Given the description of an element on the screen output the (x, y) to click on. 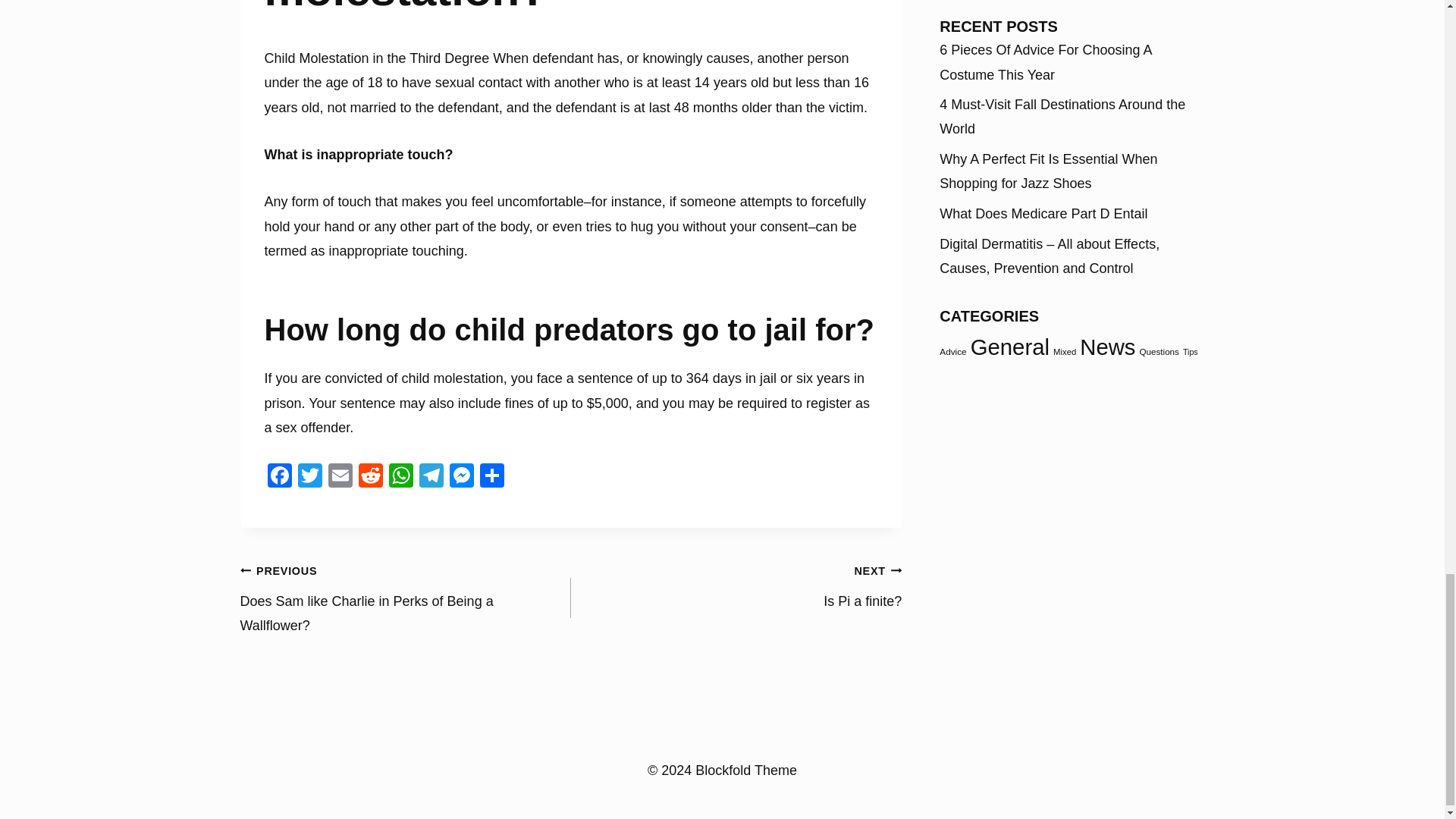
Reddit (370, 477)
Telegram (429, 477)
Reddit (370, 477)
Twitter (735, 585)
WhatsApp (309, 477)
Email (399, 477)
Messenger (339, 477)
Telegram (460, 477)
